Given the description of an element on the screen output the (x, y) to click on. 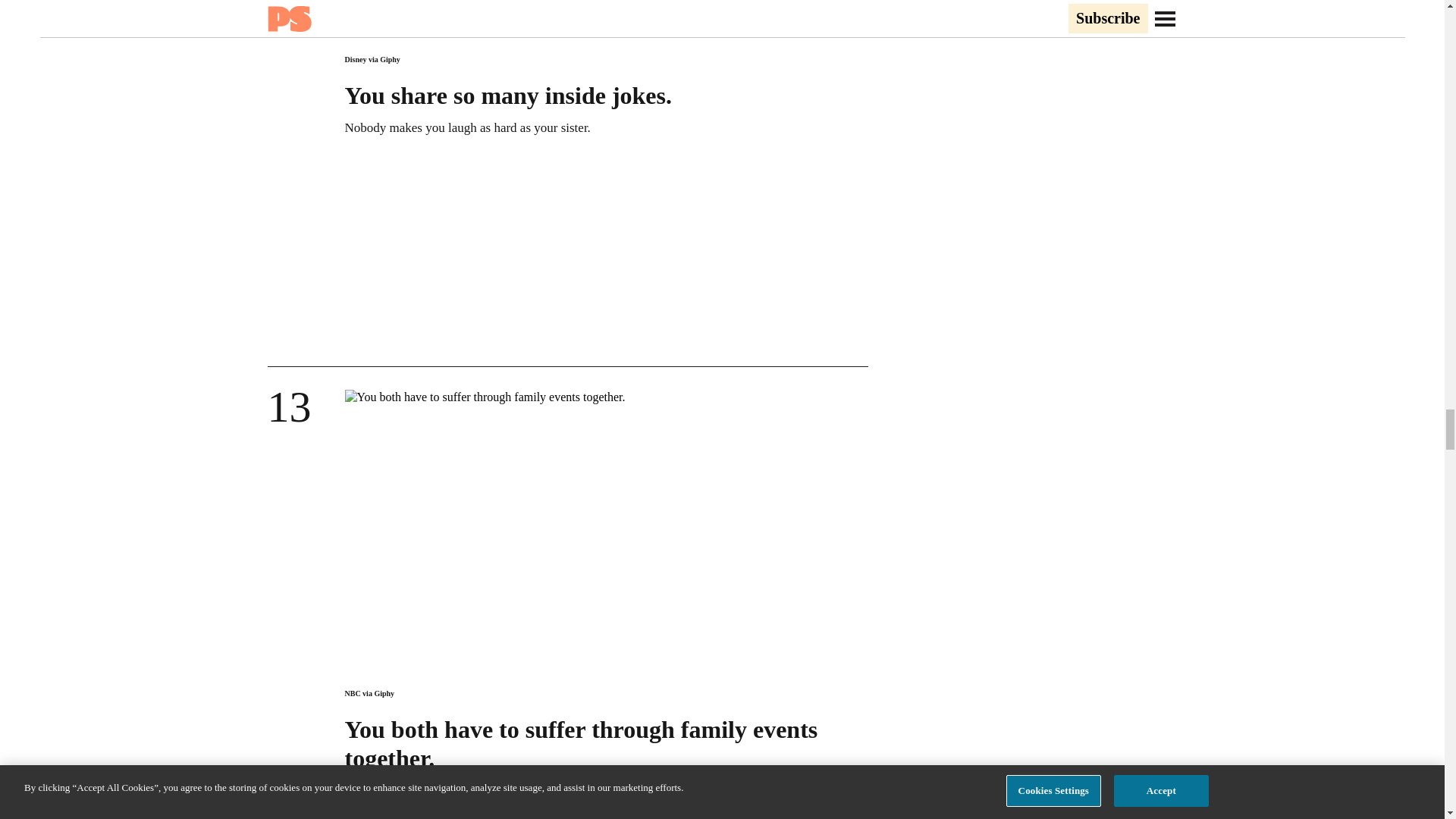
Disney via Giphy (370, 59)
NBC via Giphy (368, 693)
